Given the description of an element on the screen output the (x, y) to click on. 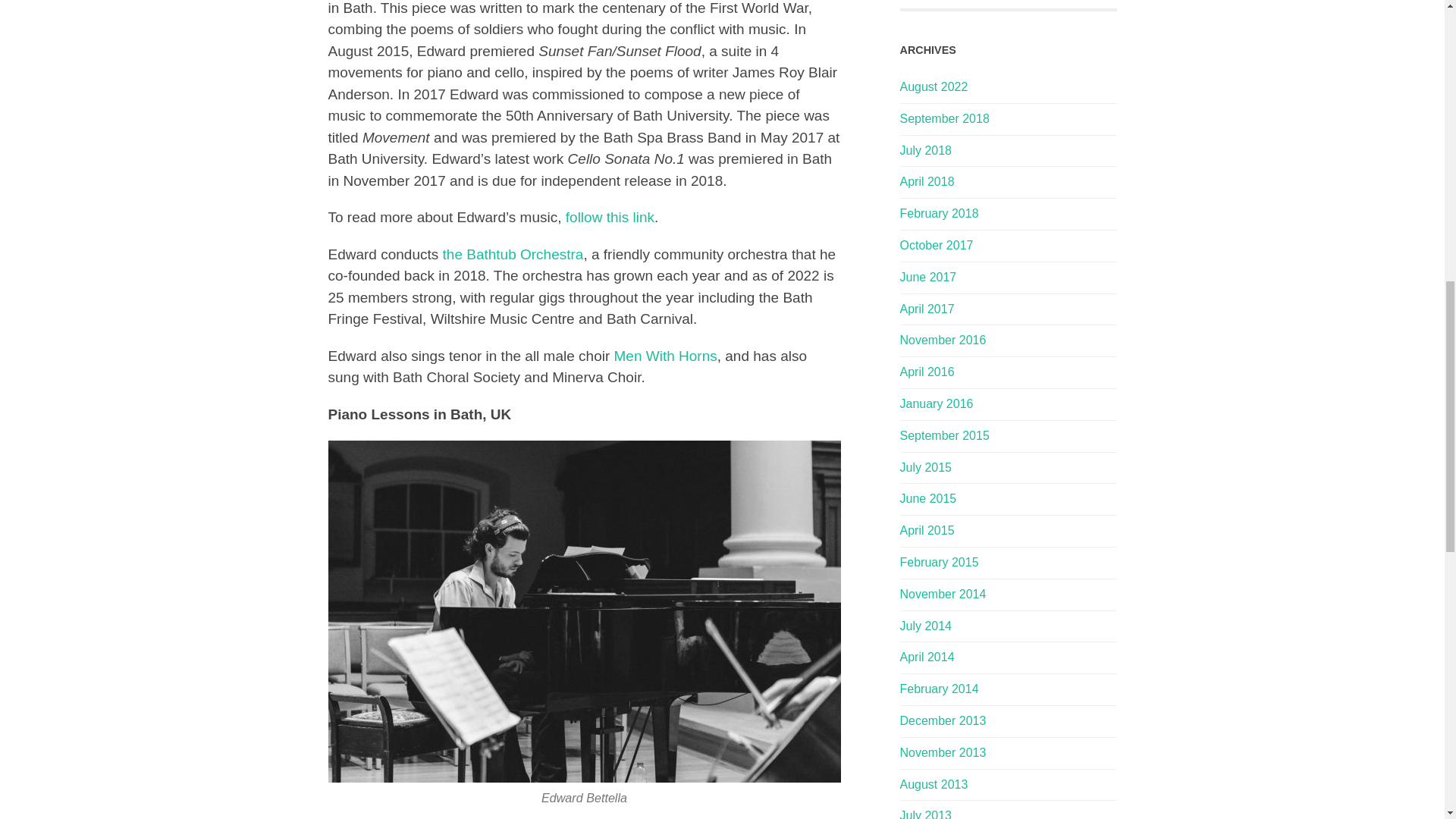
April 2017 (926, 308)
follow this link (609, 217)
Men With Horns (665, 355)
July 2018 (925, 150)
September 2018 (943, 118)
February 2018 (938, 213)
the Bathtub Orchestra (512, 254)
October 2017 (935, 245)
August 2022 (933, 86)
April 2018 (926, 181)
June 2017 (927, 277)
